Given the description of an element on the screen output the (x, y) to click on. 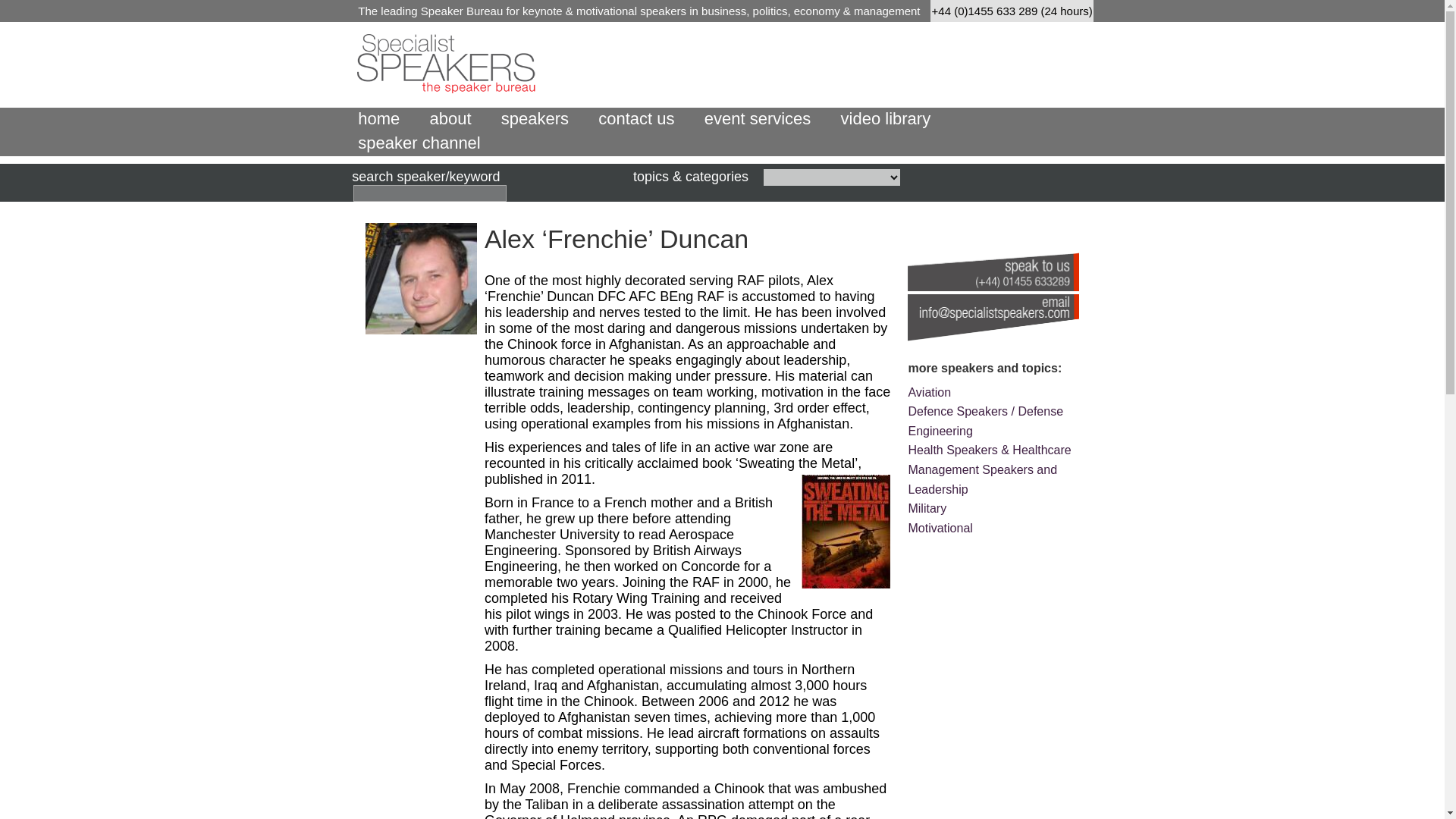
contact us (636, 117)
Military (926, 508)
speaker channel (419, 142)
speakers (534, 117)
Motivational (939, 527)
video library (886, 117)
about (450, 117)
Contact Specialist Speakers (992, 320)
Engineering (939, 431)
Aviation (928, 391)
